Given the description of an element on the screen output the (x, y) to click on. 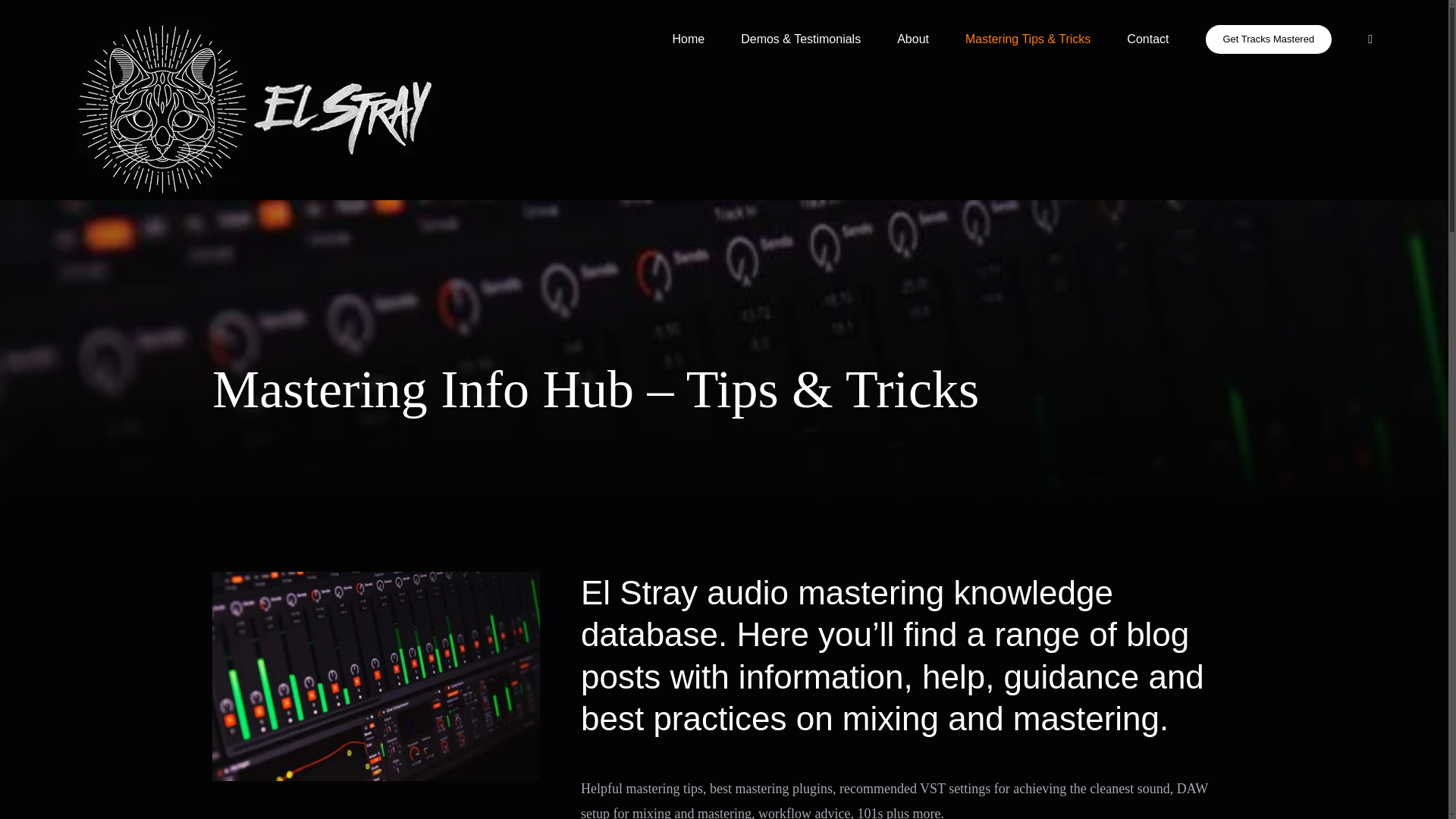
Get Tracks Mastered (1268, 39)
